Given the description of an element on the screen output the (x, y) to click on. 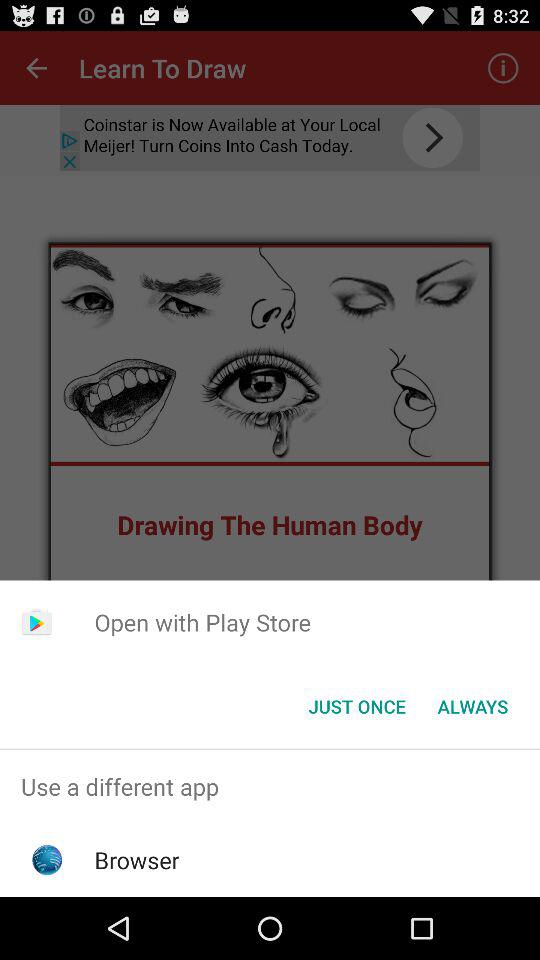
select the app below use a different icon (136, 860)
